Given the description of an element on the screen output the (x, y) to click on. 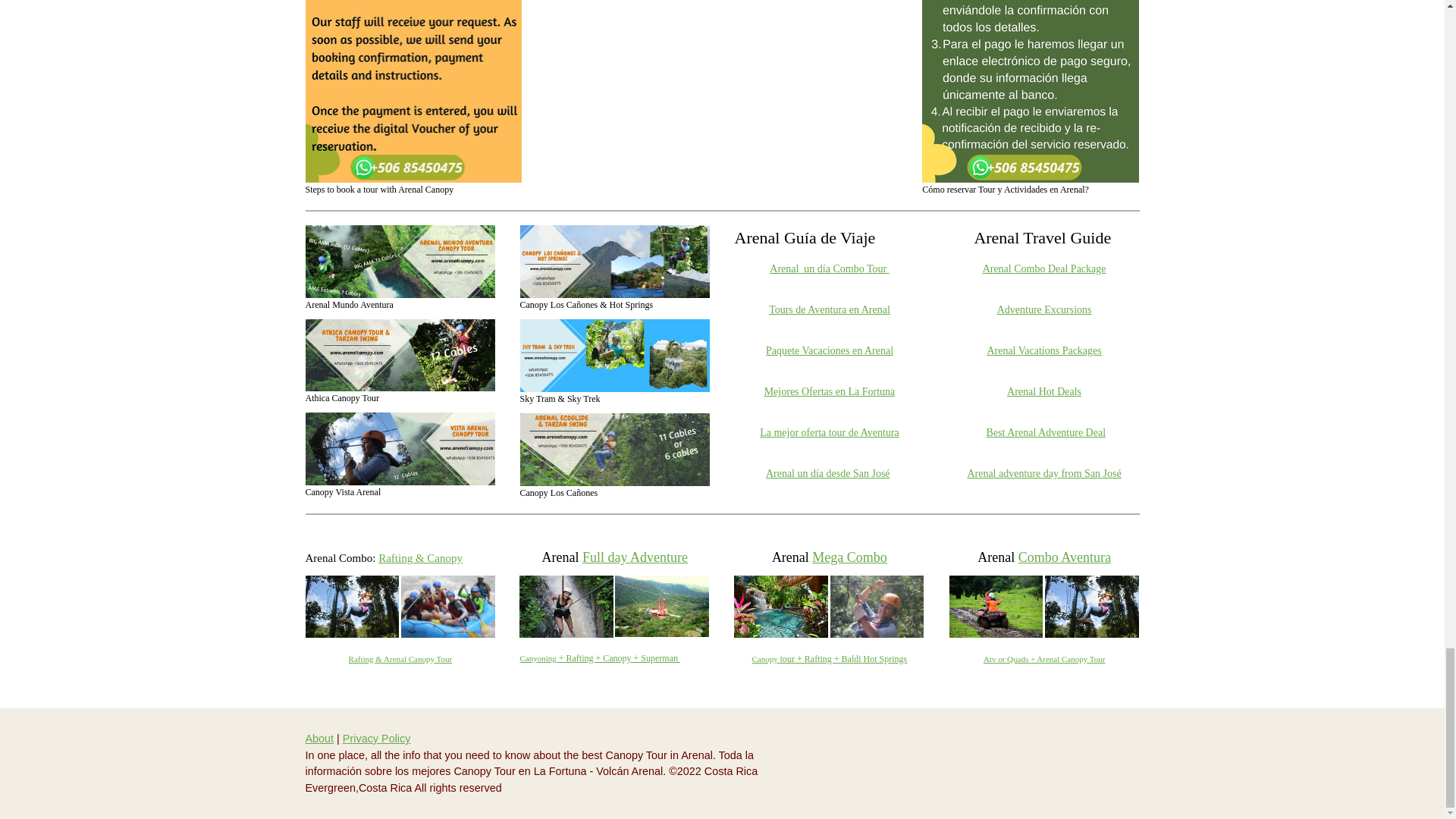
OFERTAS Arenal (829, 390)
Combos Ofertas Paquetes (829, 267)
Arenal HOT DEALS (1044, 391)
Paquete Vacaciones Arenal (829, 349)
Arenal Vacation Packages (1043, 349)
Full Day Adventure (599, 656)
Adventure Excursions in Arenal (1044, 309)
San Jose to Arenal day adventure tour (1043, 472)
Tours de Aventura en Arenal (828, 308)
Combo Deals Package (1044, 267)
Full Day Adventure (634, 557)
